Given the description of an element on the screen output the (x, y) to click on. 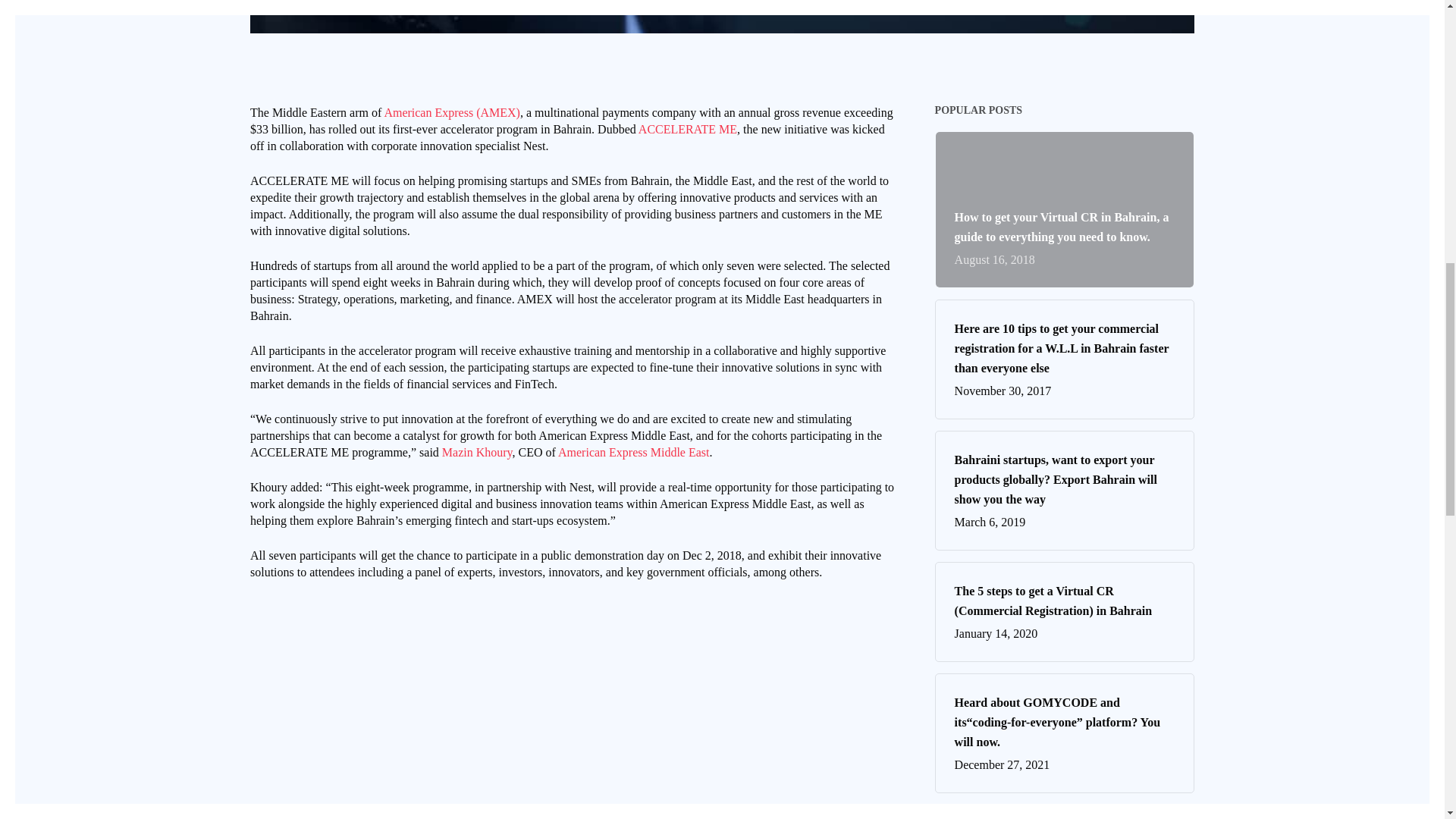
ACCELERATE ME (687, 128)
Mazin Khoury (477, 451)
American Express Middle East (633, 451)
